Given the description of an element on the screen output the (x, y) to click on. 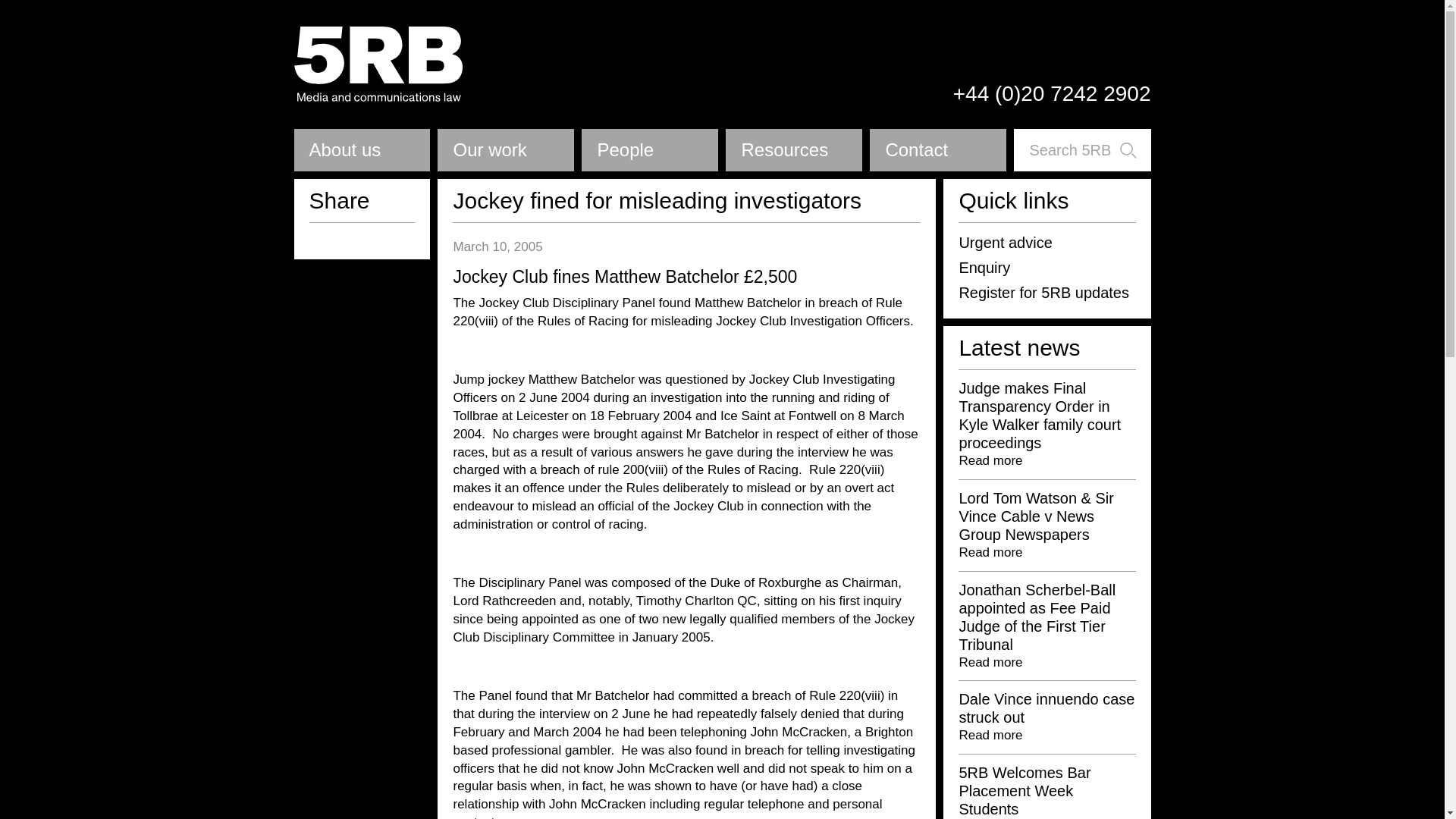
Latest news (1019, 347)
Resources (793, 149)
People (648, 149)
Contact (937, 149)
Register for 5RB updates (1043, 292)
Read more (990, 662)
Our work (505, 149)
Enquiry (984, 267)
Read more (990, 552)
Urgent advice (1004, 242)
Email (311, 238)
Read more (990, 460)
About us (362, 149)
